Given the description of an element on the screen output the (x, y) to click on. 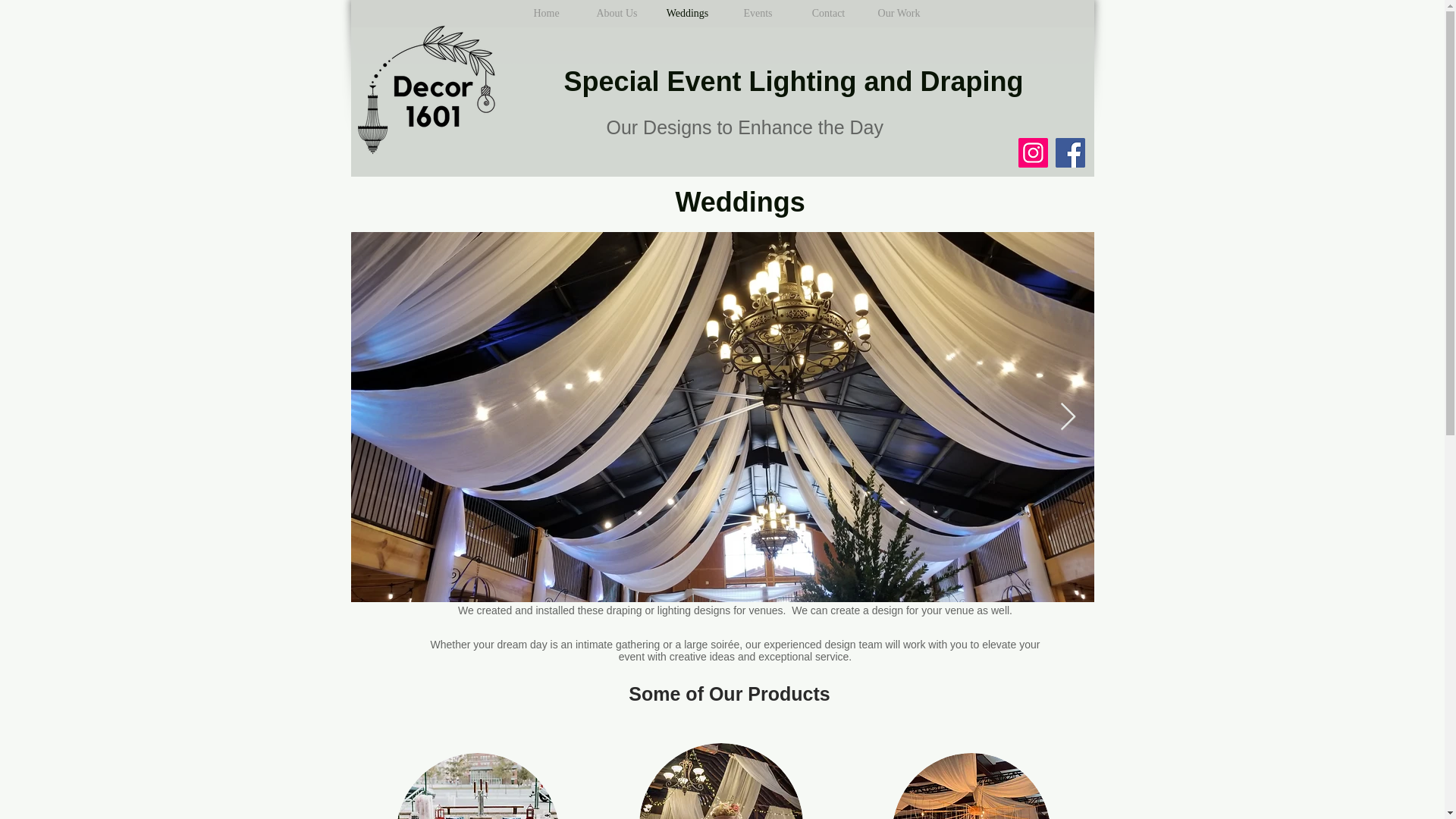
Home (545, 13)
Our Work (898, 13)
guy3.jpg (971, 785)
guy2.jpg (477, 785)
Contact (828, 13)
Events (757, 13)
Weddings (687, 13)
About Us (615, 13)
guy4.jpg (720, 780)
